Given the description of an element on the screen output the (x, y) to click on. 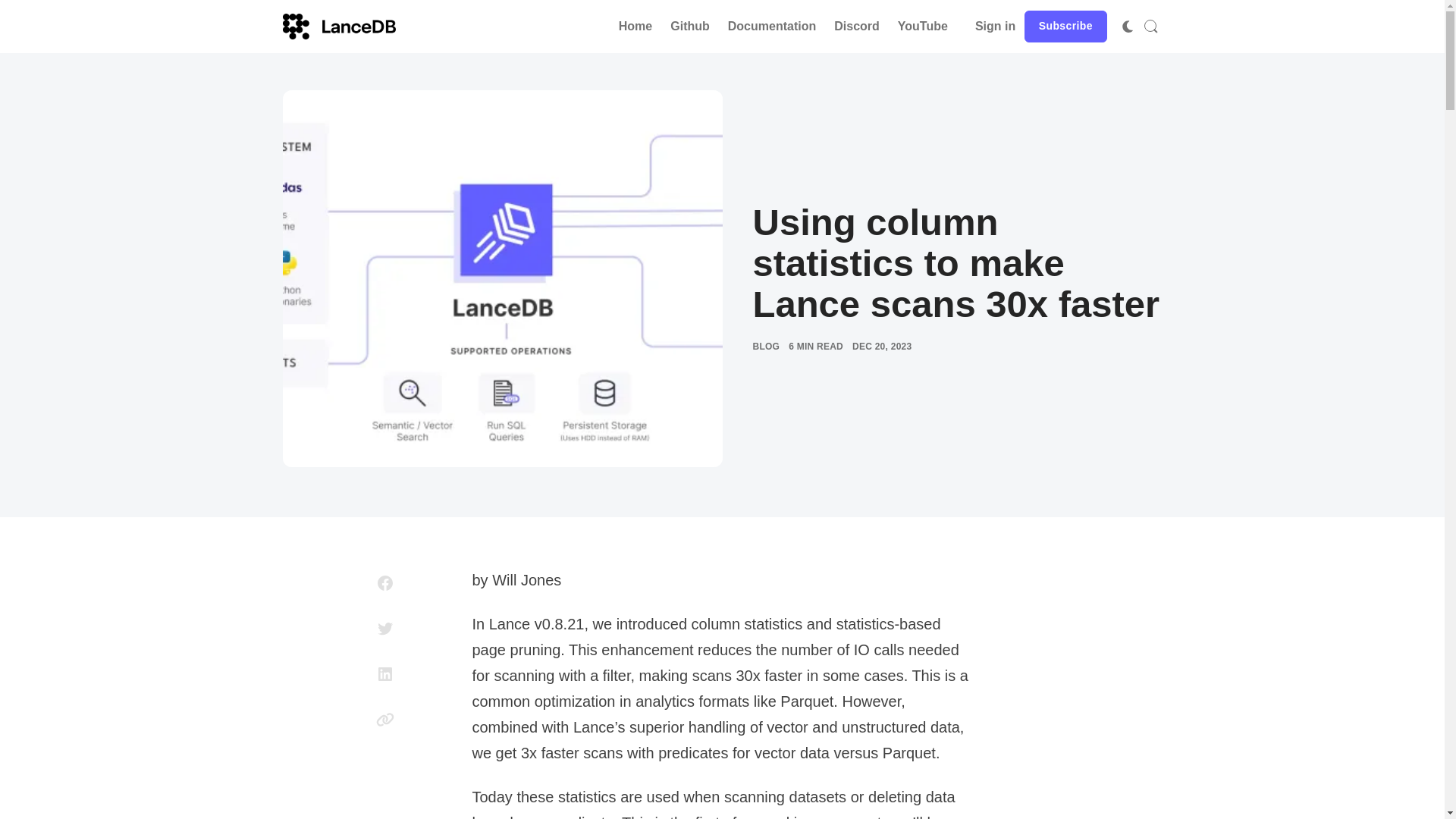
Github (690, 26)
Discord (856, 26)
YouTube (922, 26)
Home (635, 26)
Copy link (384, 719)
BLOG (765, 346)
Documentation (772, 26)
Sign in (995, 26)
Subscribe (1065, 26)
Share on Twitter (384, 628)
